Given the description of an element on the screen output the (x, y) to click on. 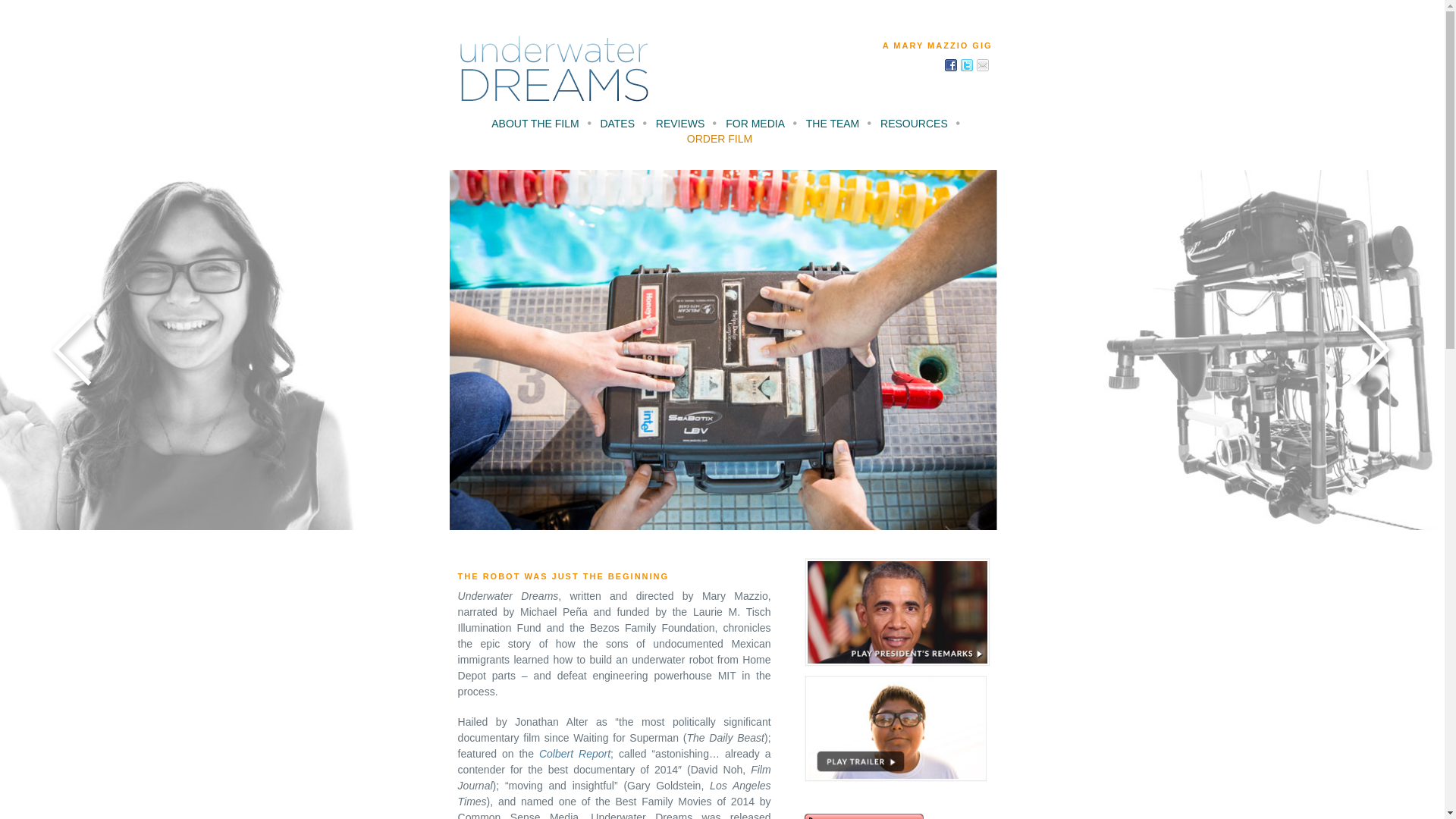
REVIEWS (680, 125)
Underwater Dreams (553, 68)
RESOURCES (913, 125)
ABOUT THE FILM (535, 125)
Facebook (950, 64)
DATES (616, 125)
ORDER FILM (719, 140)
FOR MEDIA (754, 125)
Twitter (965, 64)
Colbert Report (574, 753)
Email (982, 64)
THE TEAM (833, 125)
